Given the description of an element on the screen output the (x, y) to click on. 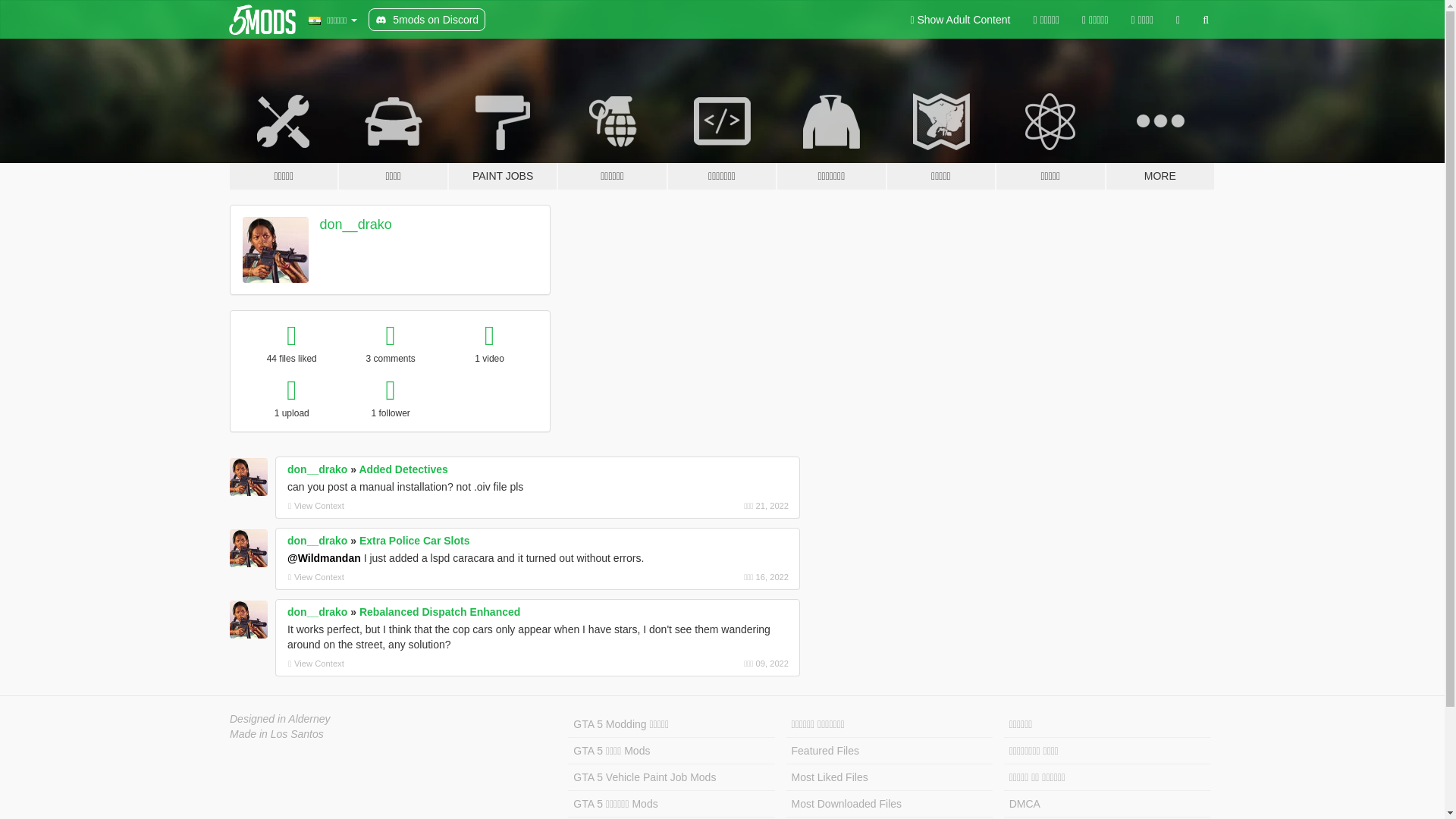
5mods on Discord (426, 19)
Light mode (960, 19)
Show Adult Content (960, 19)
